Given the description of an element on the screen output the (x, y) to click on. 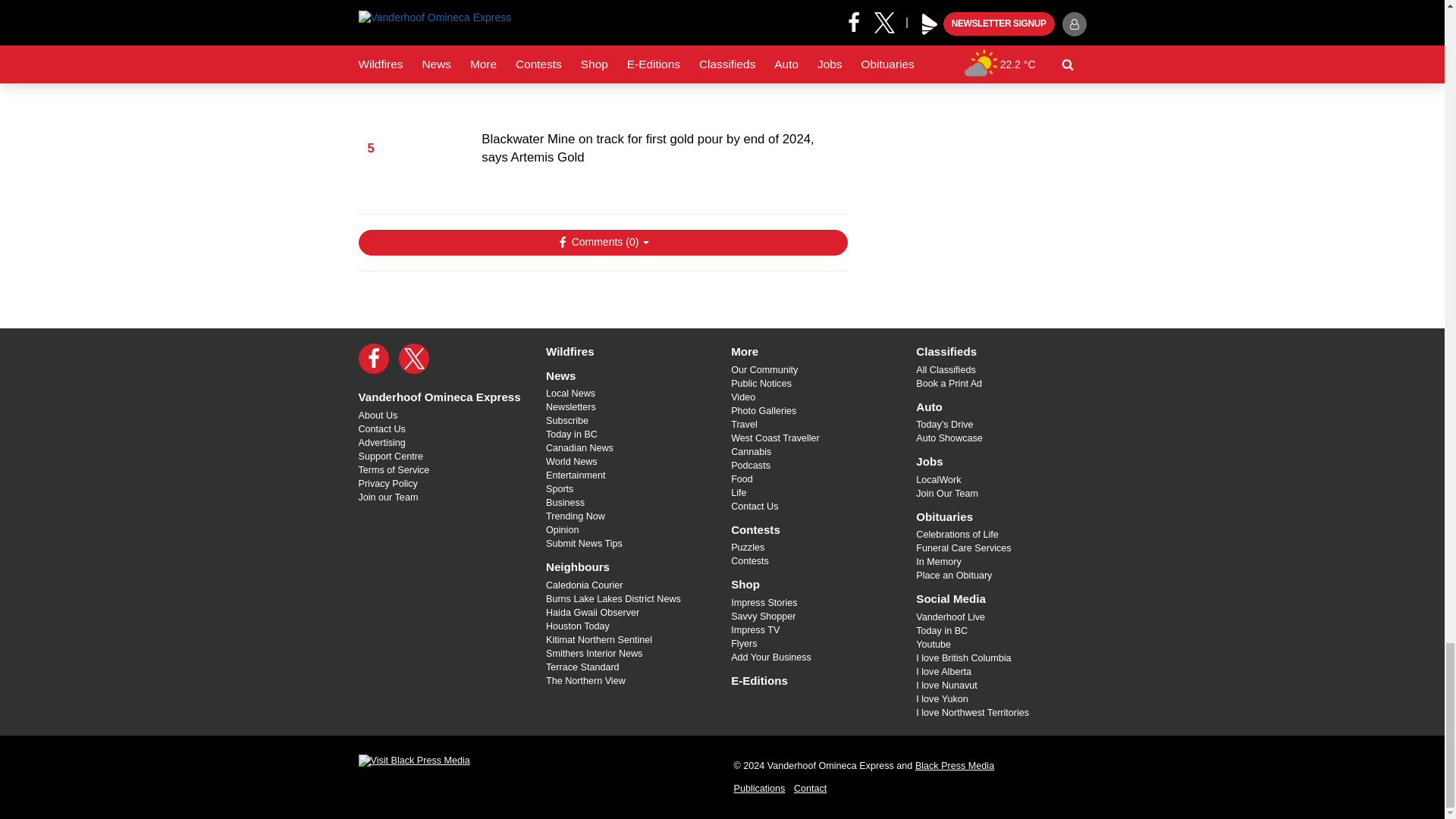
Show Comments (602, 242)
X (413, 358)
Facebook (373, 358)
